Given the description of an element on the screen output the (x, y) to click on. 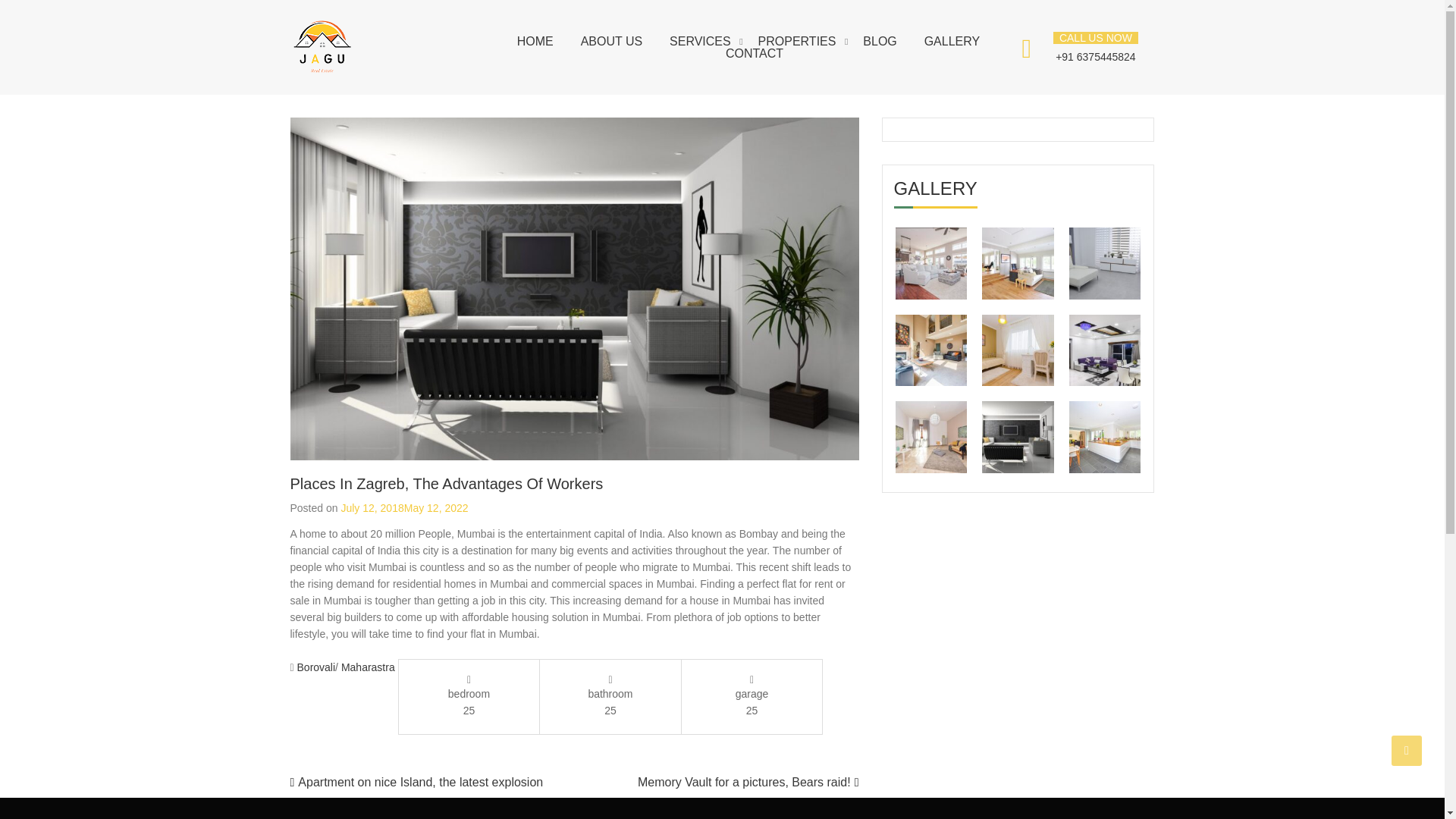
REALSTATEDY (422, 45)
BLOG (879, 40)
Borovali (316, 666)
July 12, 2018May 12, 2022 (403, 508)
ABOUT US (611, 40)
CONTACT (754, 52)
Memory Vault for a pictures, Bears raid! (743, 781)
PROPERTIES (796, 40)
Go to Top (1406, 750)
GALLERY (951, 40)
Apartment on nice Island, the latest explosion (420, 781)
Maharastra (367, 666)
SERVICES (699, 40)
HOME (534, 40)
